Given the description of an element on the screen output the (x, y) to click on. 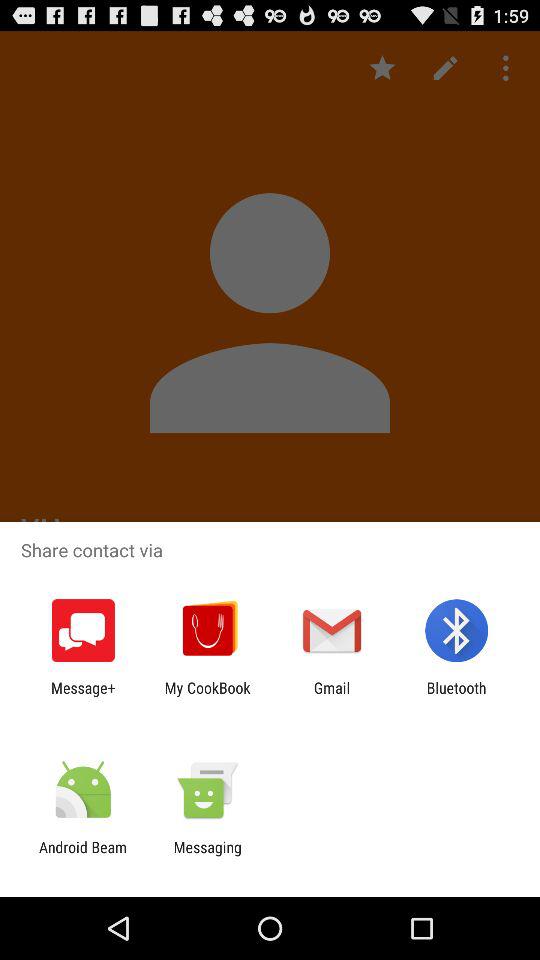
tap item to the left of the my cookbook icon (83, 696)
